Given the description of an element on the screen output the (x, y) to click on. 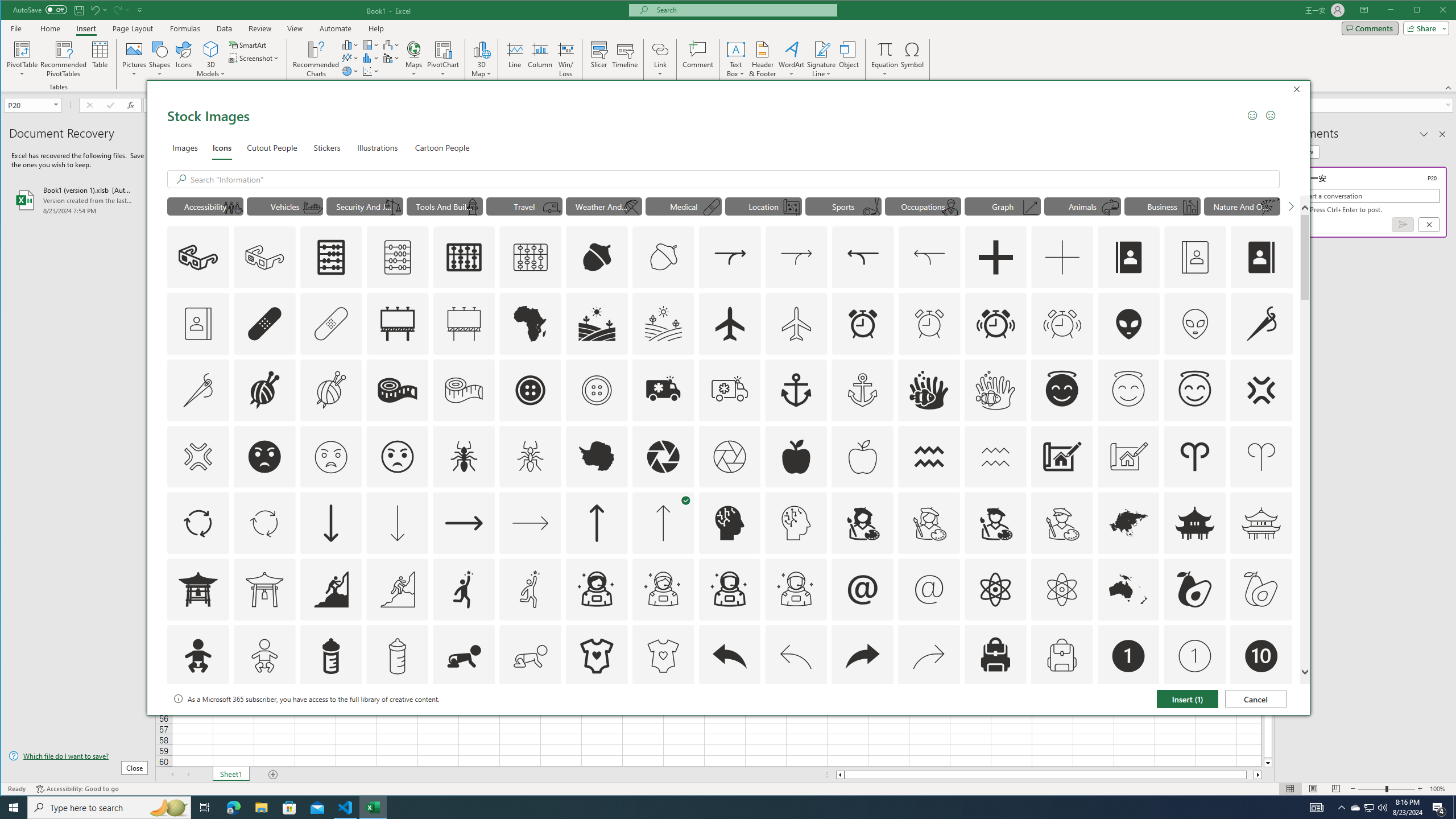
Action Center, 4 new notifications (1439, 807)
PivotChart (443, 59)
AutomationID: Icons_3dGlasses_M (264, 256)
Object... (848, 59)
AutomationID: Icons_Badge6 (796, 721)
AutomationID: Icons_Atom (995, 589)
AutomationID: Icons_WeightsUneven1_M (392, 207)
"Business" Icons. (1162, 206)
AutomationID: Icons_Abacus (330, 256)
